Given the description of an element on the screen output the (x, y) to click on. 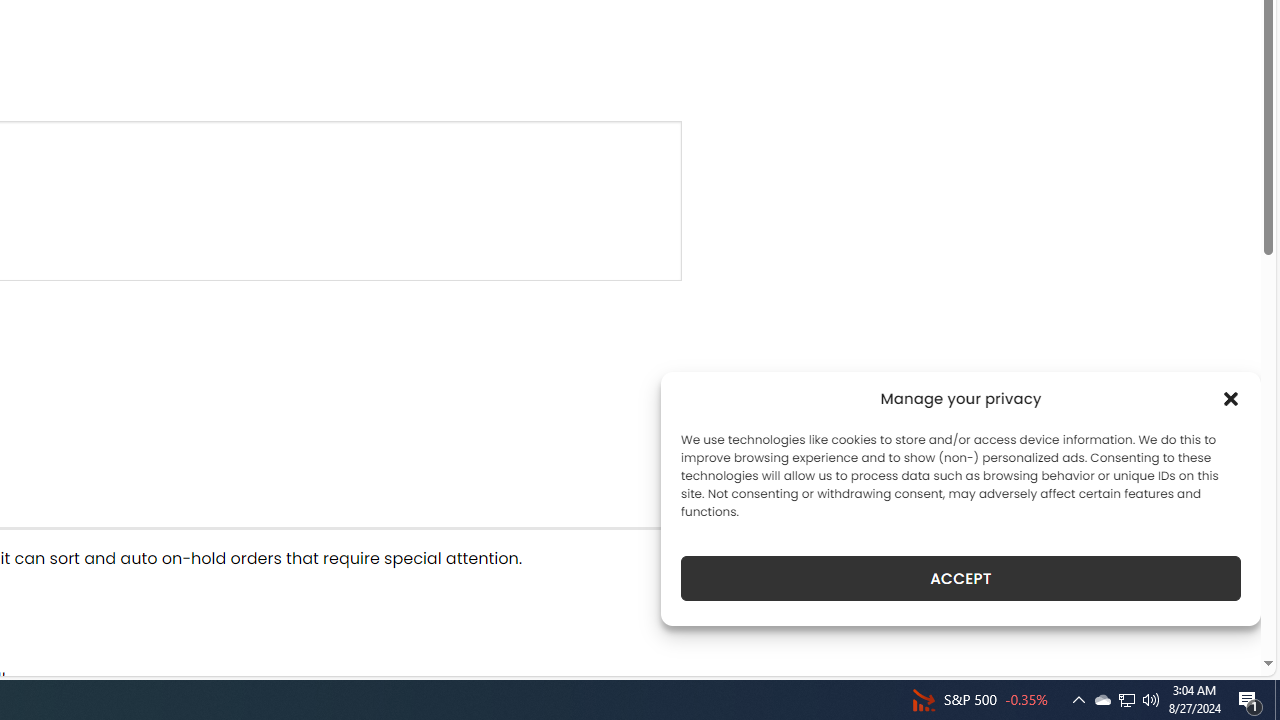
ACCEPT (960, 578)
Class: cmplz-close (1231, 398)
